Given the description of an element on the screen output the (x, y) to click on. 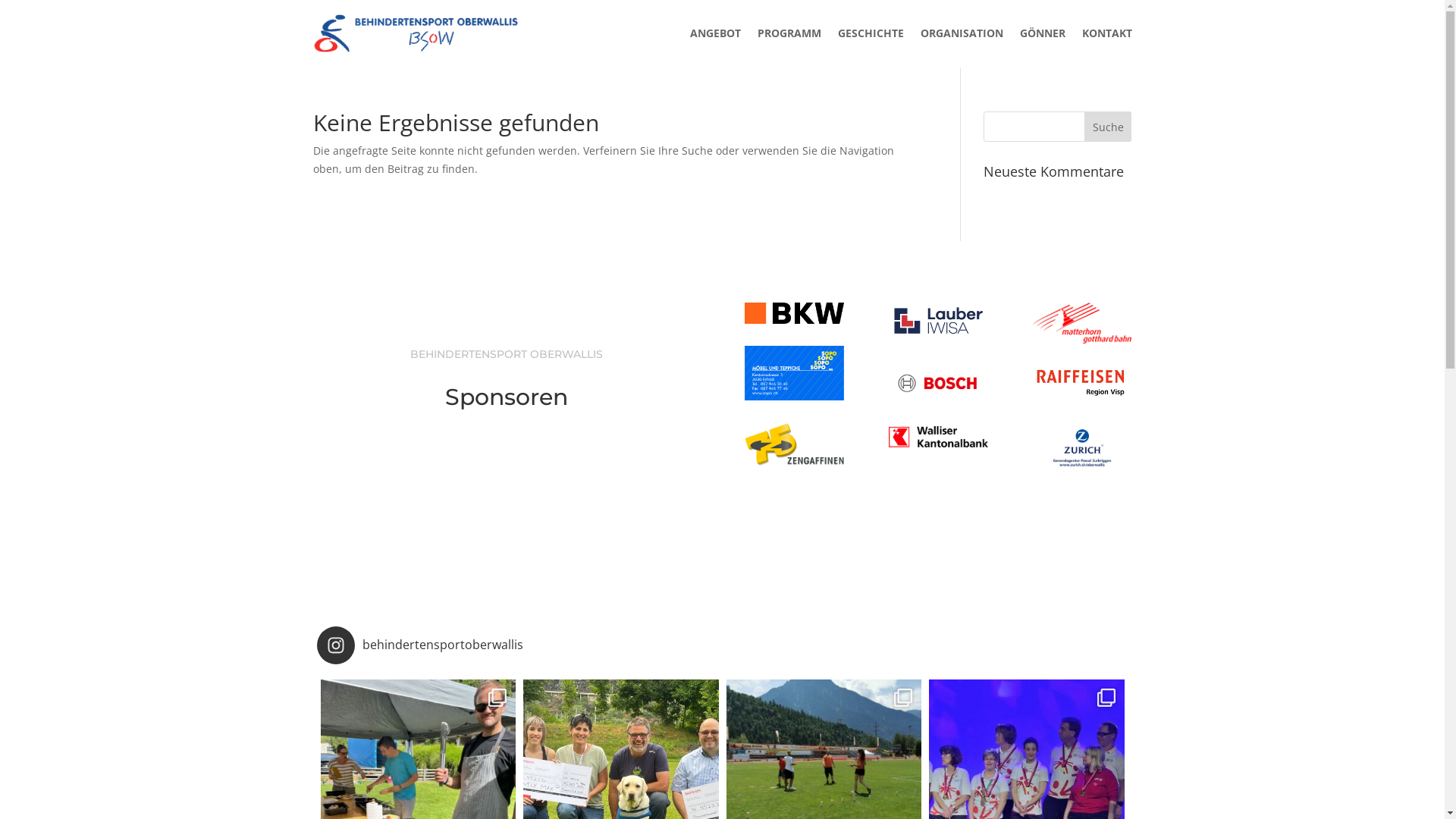
behindertensportoberwallis Element type: text (722, 645)
PROGRAMM Element type: text (788, 33)
GESCHICHTE Element type: text (870, 33)
Zengaffinen-Logo Element type: hover (793, 444)
BKW_Logo_RGB_Onlinegebrauch Element type: hover (793, 312)
KONTAKT Element type: text (1106, 33)
Logo Raiffeisenbank Region Visp Element type: hover (1081, 383)
WKB_Logo_RGB Element type: hover (937, 436)
Lauber_IWISA_Logo Element type: hover (937, 320)
MGB_030123_RGB Element type: hover (1081, 323)
ZURICH Element type: hover (1081, 447)
Suche Element type: text (1108, 126)
ANGEBOT Element type: text (715, 33)
1200px-Bosch-logotype.svg Element type: hover (937, 382)
SOPO Logo+Adresse-01 Element type: hover (793, 372)
ORGANISATION Element type: text (961, 33)
